Given the description of an element on the screen output the (x, y) to click on. 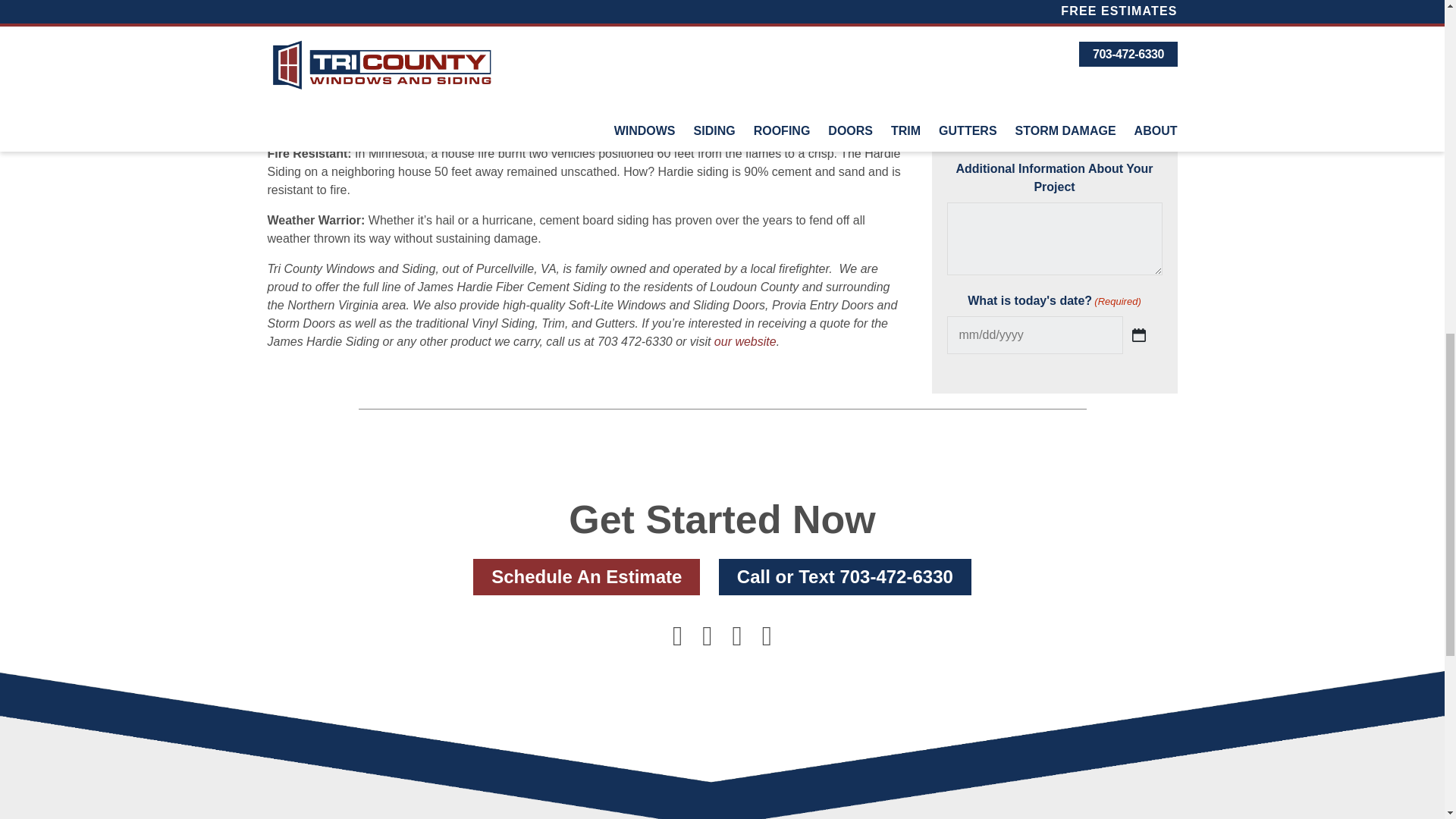
Angi (767, 640)
Yelp (737, 640)
Facebook (676, 640)
Select date (1138, 173)
